Given the description of an element on the screen output the (x, y) to click on. 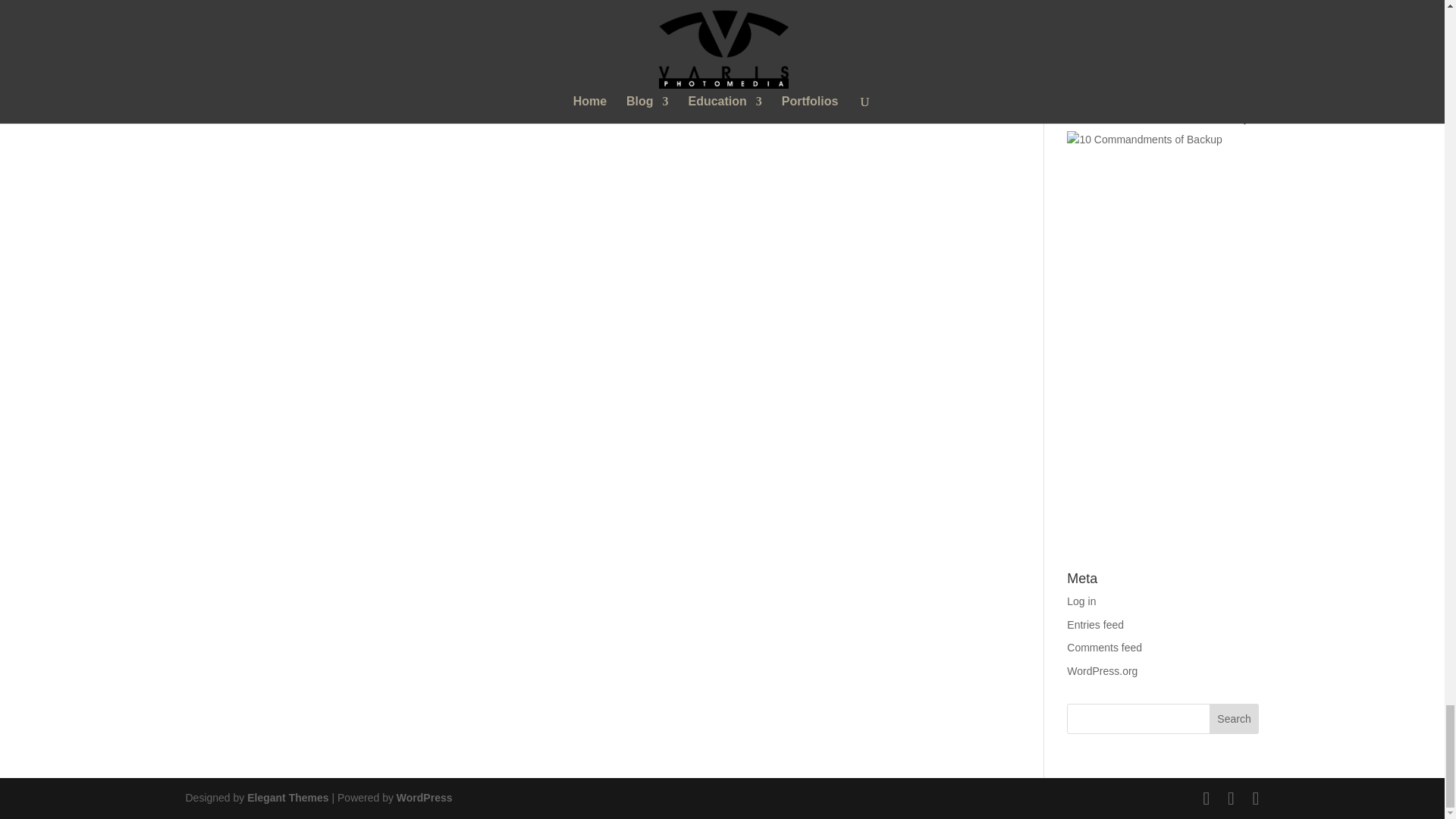
Search (1234, 718)
